Given the description of an element on the screen output the (x, y) to click on. 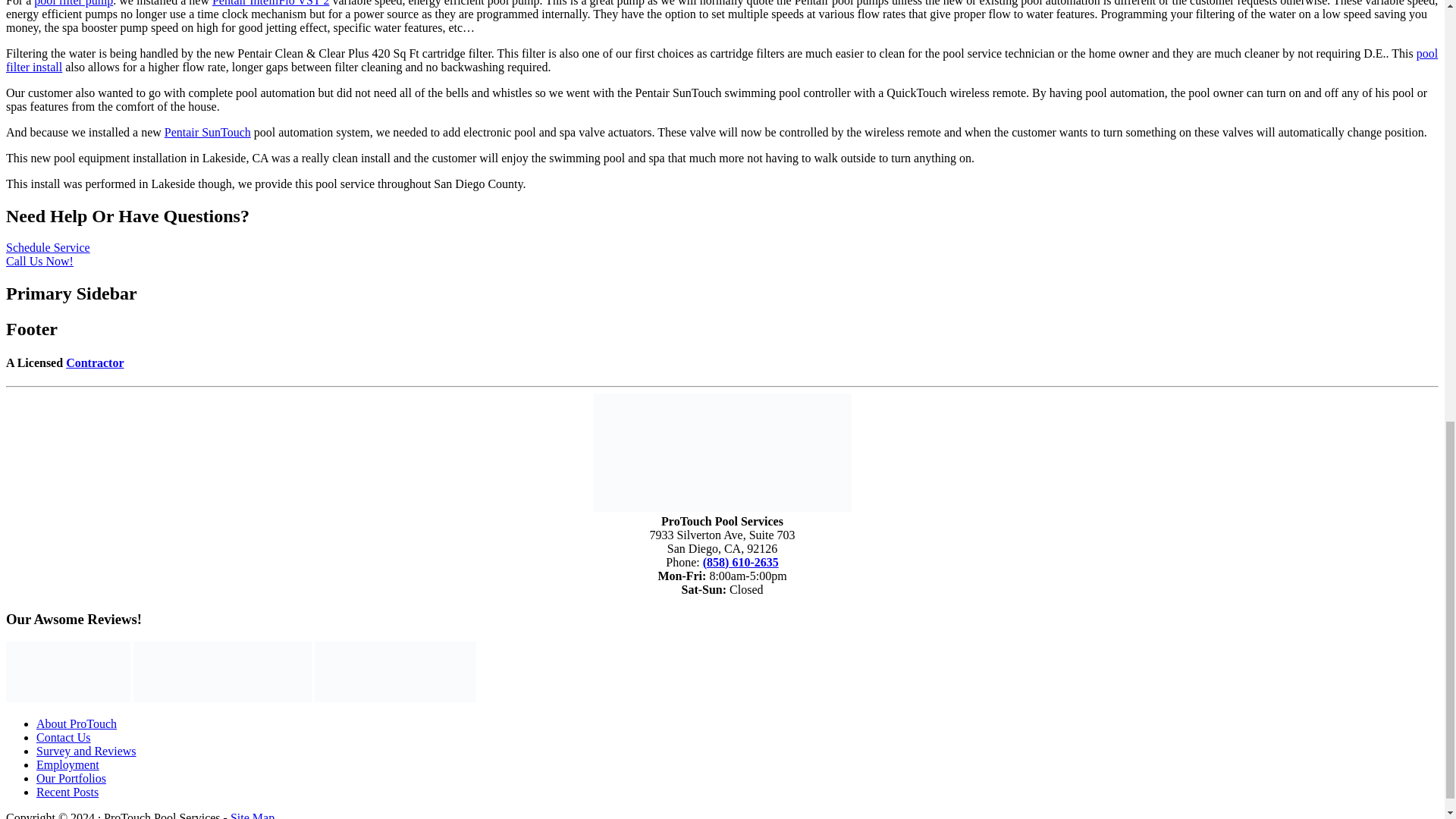
Pentair SunTouch (207, 132)
Our Portfolios (71, 778)
Contact Us (63, 737)
Call Us Now! (39, 260)
Schedule Service (47, 246)
Survey and Reviews (86, 750)
About ProTouch (76, 723)
Contractor (94, 362)
Recent Posts (67, 791)
pool filter pump (73, 3)
Employment (67, 764)
Pentair IntelliFlo VST 2 (271, 3)
